Given the description of an element on the screen output the (x, y) to click on. 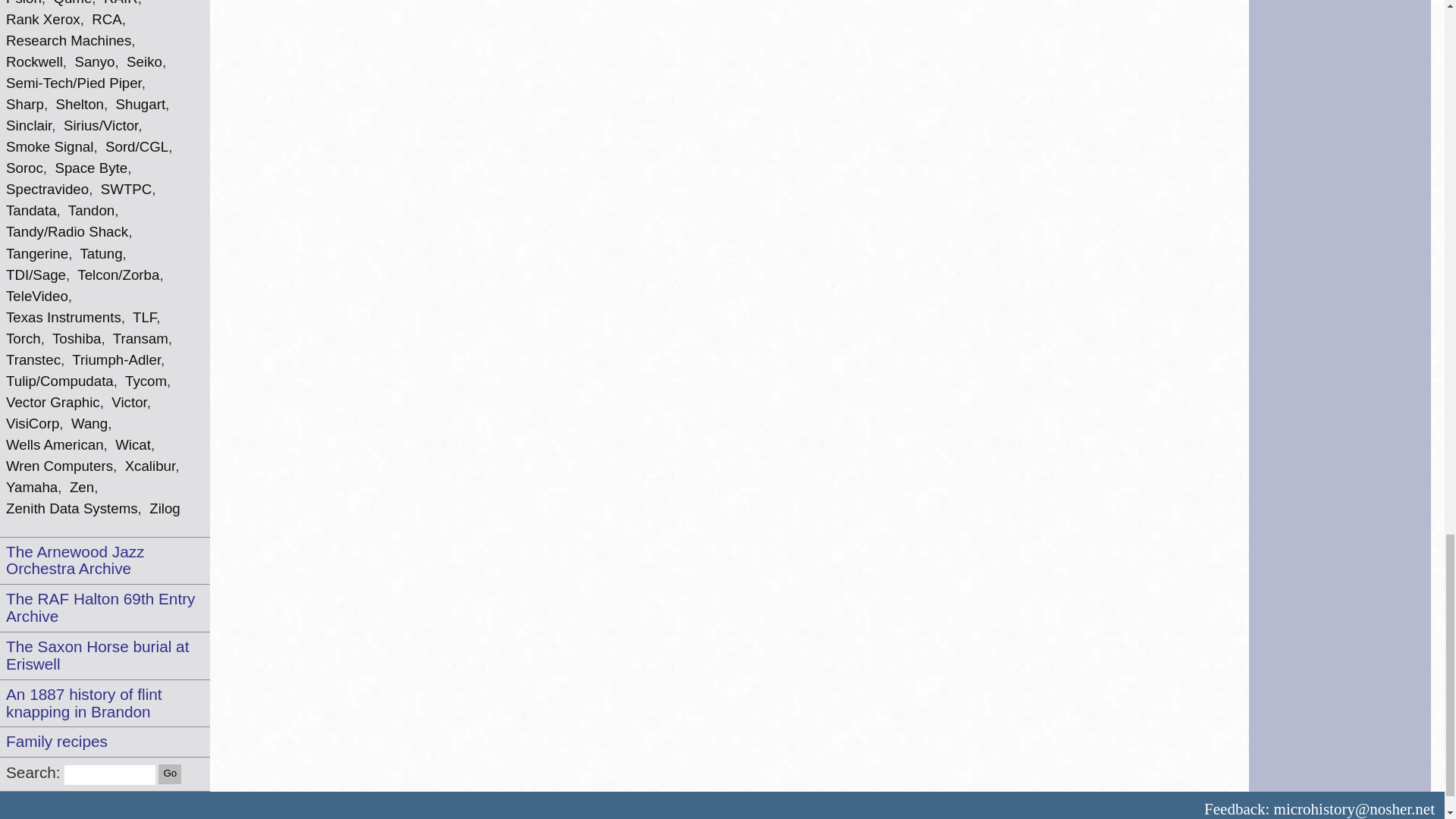
Go (169, 773)
